Given the description of an element on the screen output the (x, y) to click on. 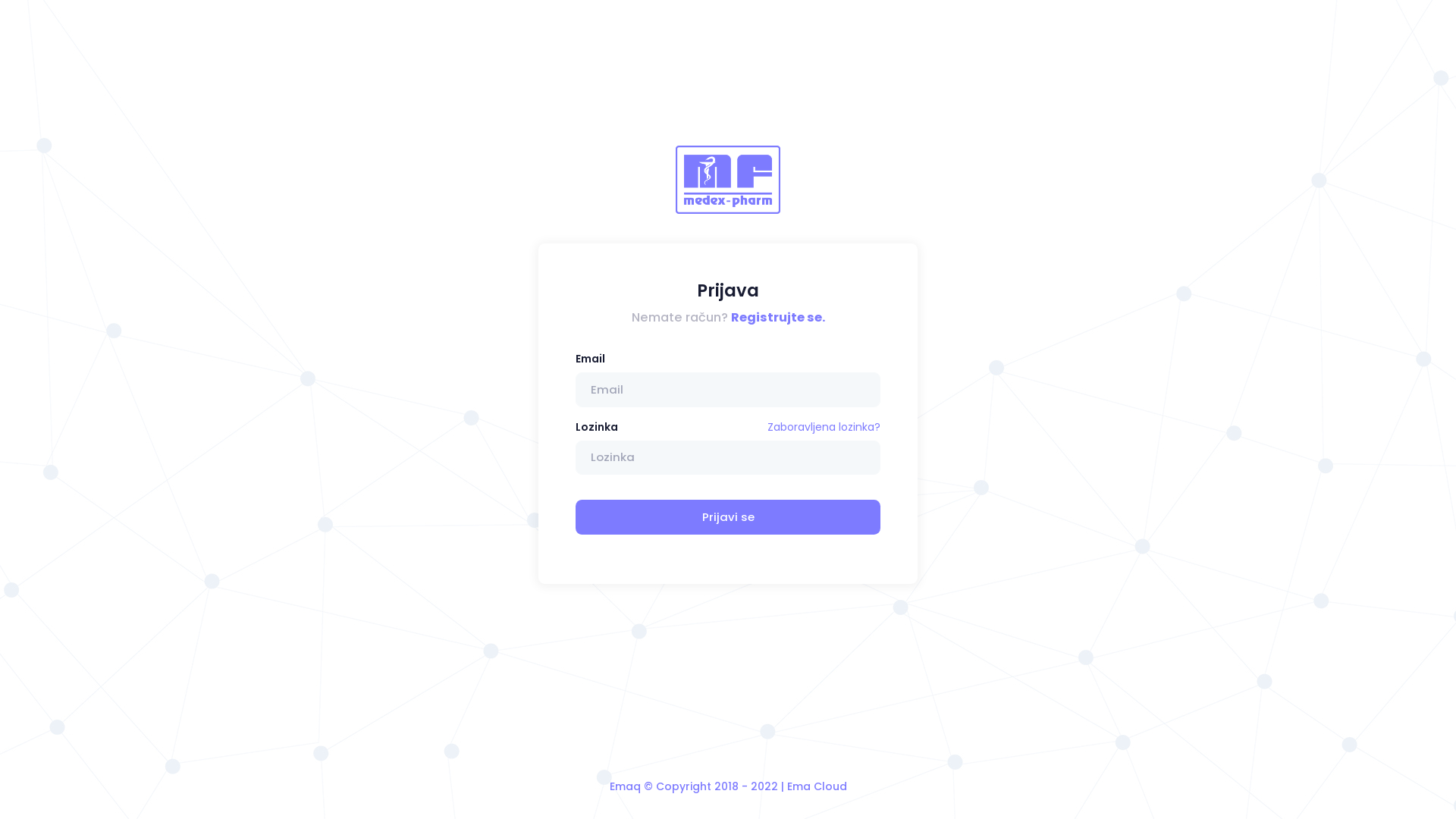
Zaboravljena lozinka? Element type: text (823, 427)
Registrujte se. Element type: text (778, 317)
Prijavi se Element type: text (728, 516)
